Given the description of an element on the screen output the (x, y) to click on. 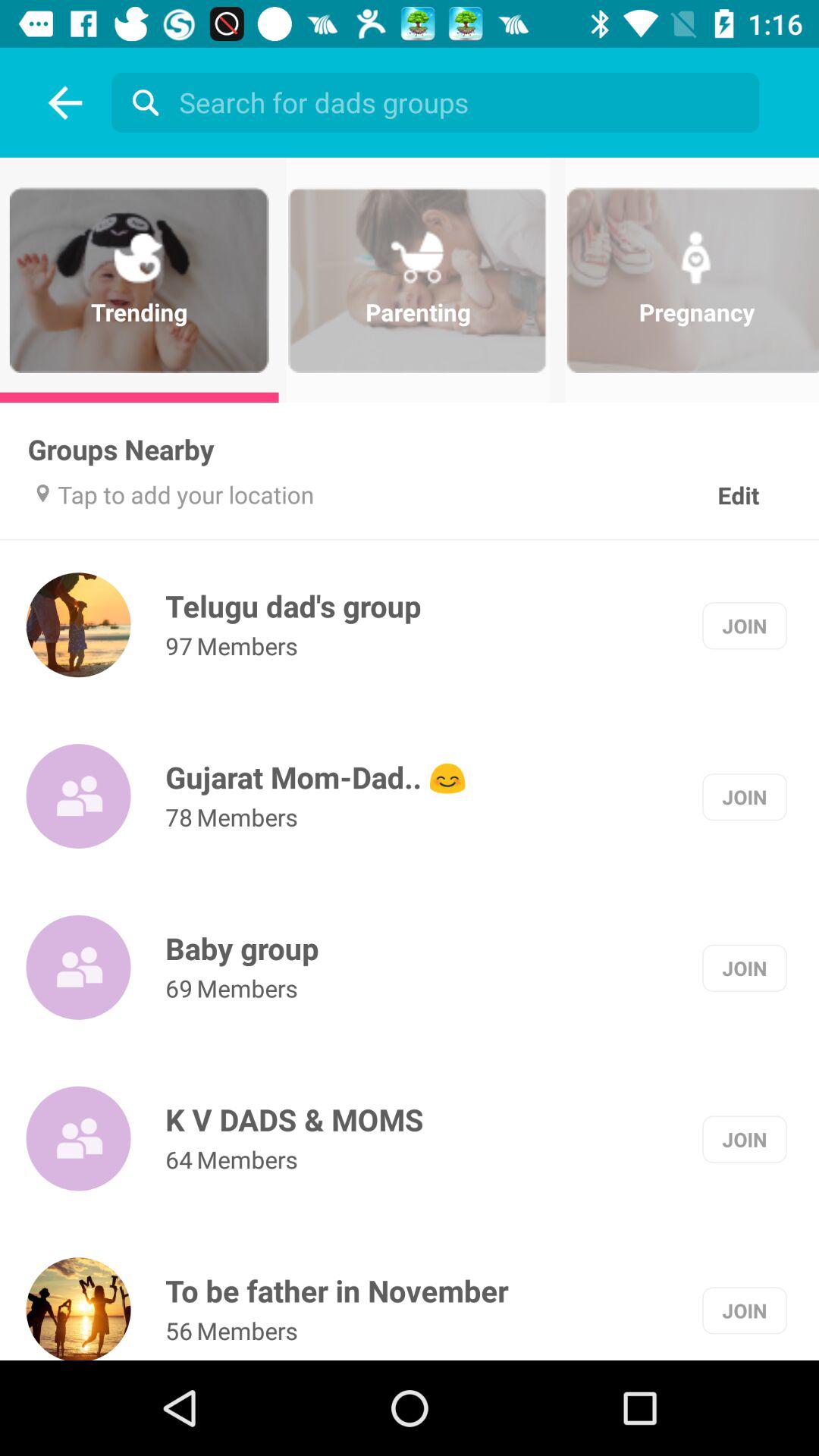
open item to the left of join (293, 605)
